Given the description of an element on the screen output the (x, y) to click on. 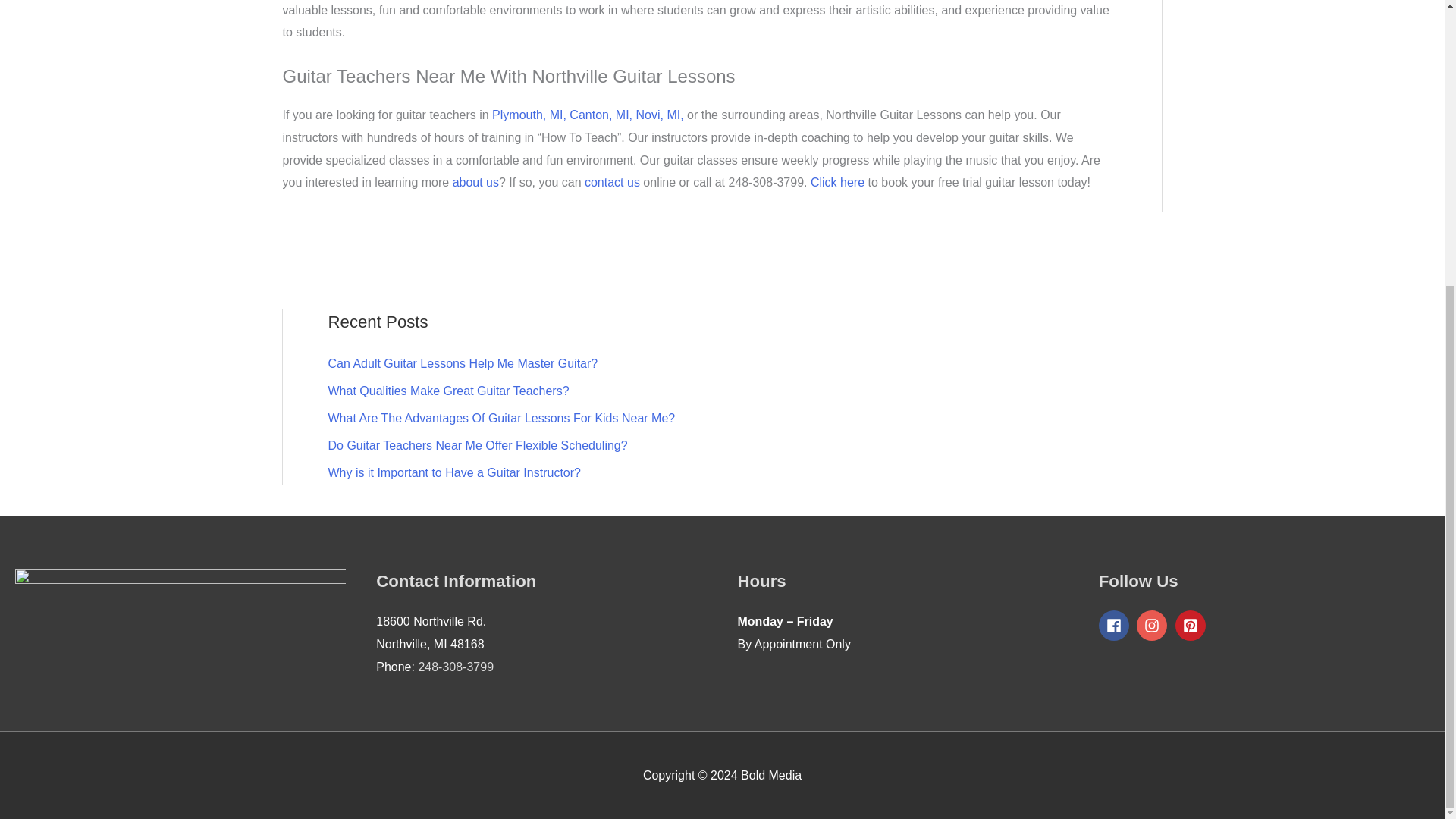
Do Guitar Teachers Near Me Offer Flexible Scheduling? (477, 445)
about us (475, 182)
contact us (612, 182)
Can Adult Guitar Lessons Help Me Master Guitar? (461, 363)
Novi, MI, (660, 114)
248-308-3799 (455, 666)
Click here (837, 182)
Plymouth, MI, (529, 114)
Why is it Important to Have a Guitar Instructor? (453, 472)
What Are The Advantages Of Guitar Lessons For Kids Near Me? (501, 418)
